Given the description of an element on the screen output the (x, y) to click on. 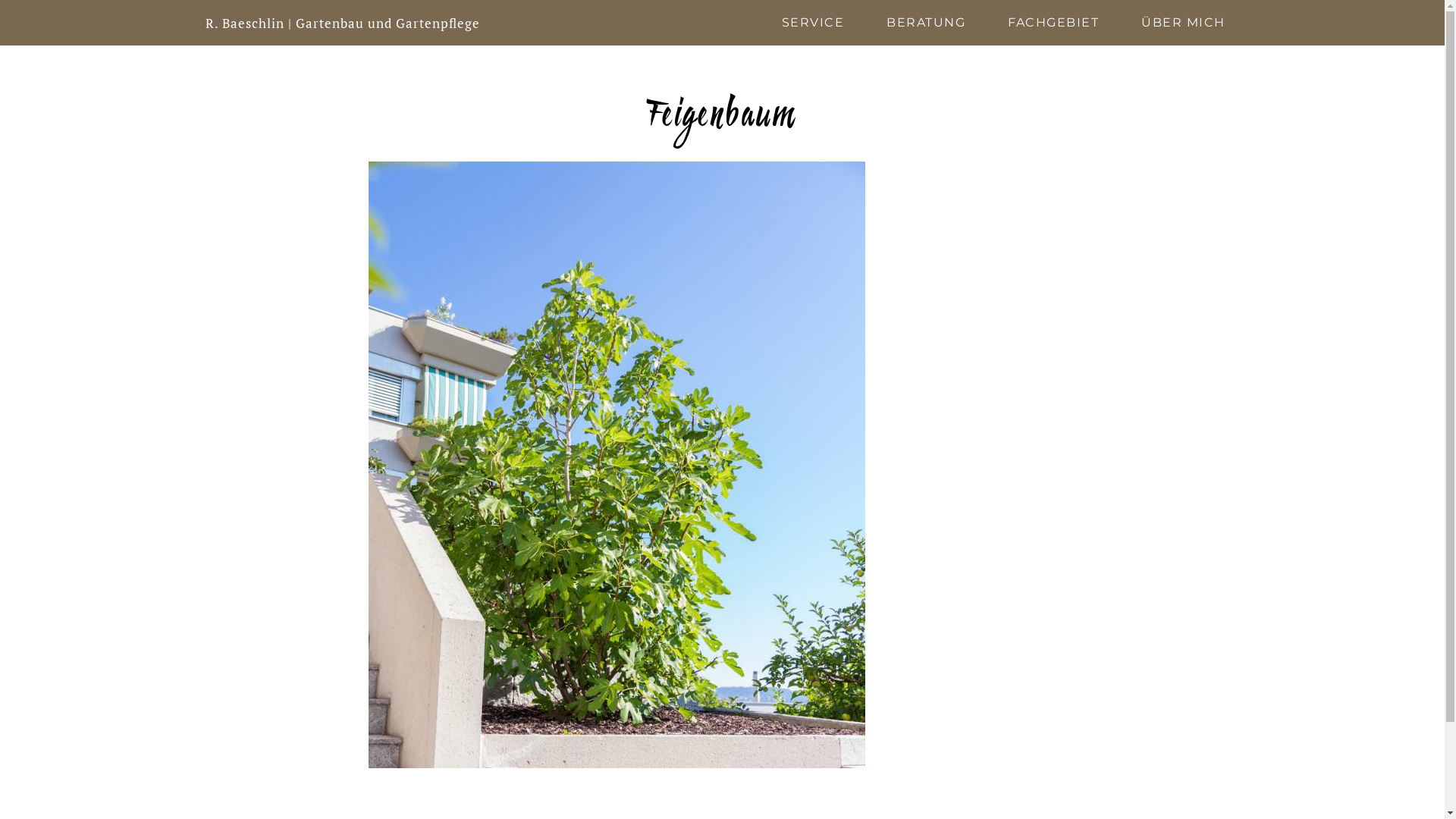
SERVICE Element type: text (812, 22)
BERATUNG Element type: text (925, 22)
FACHGEBIET Element type: text (1053, 22)
R. Baeschlin
| Gartenbau und Gartenpflege Element type: text (341, 22)
